Given the description of an element on the screen output the (x, y) to click on. 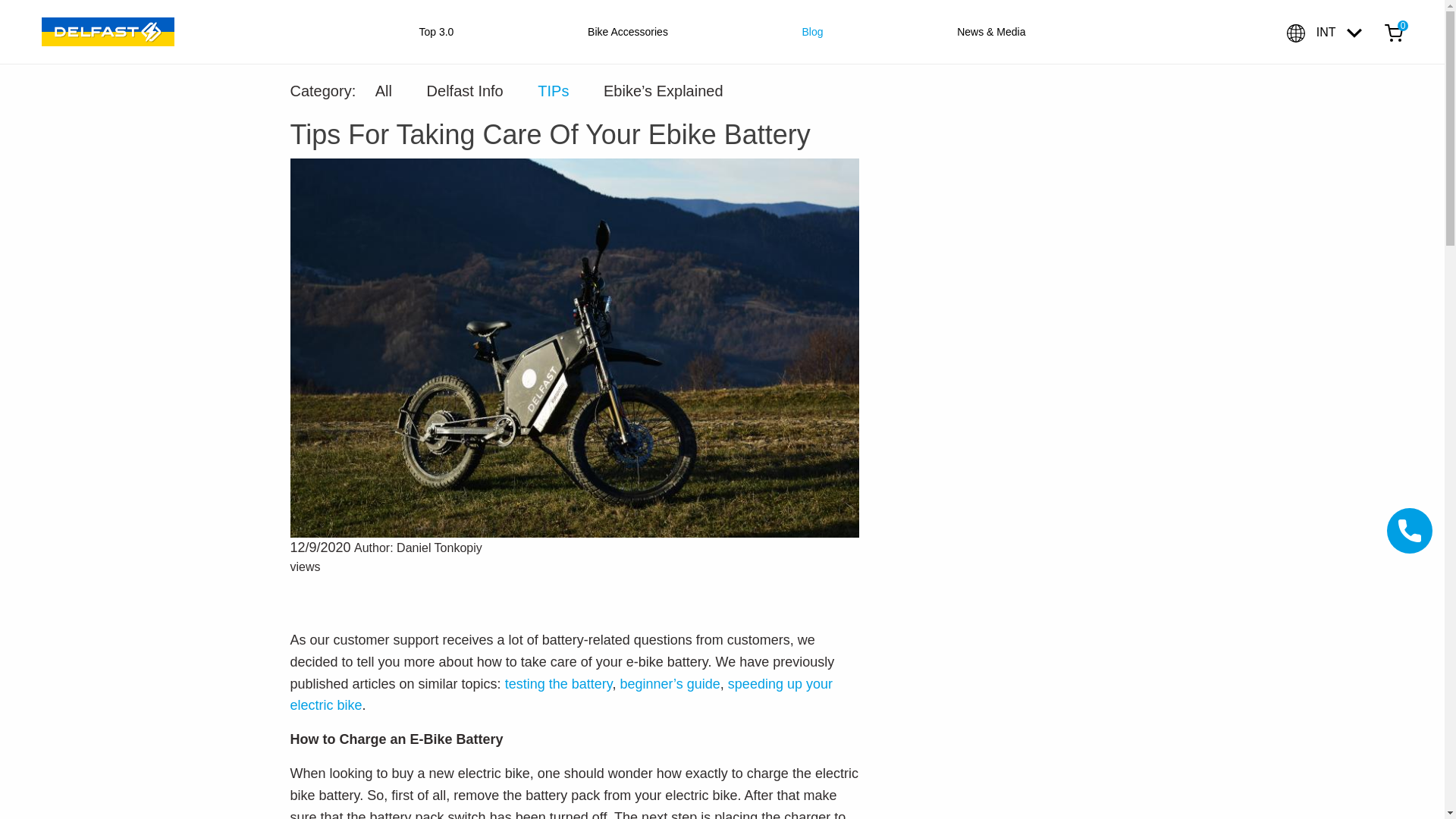
speeding up your electric bike (560, 694)
Top 3.0 (435, 31)
testing the battery (558, 683)
All (383, 90)
Delfast Info (465, 90)
Blog (813, 31)
Bike Accessories (628, 31)
TIPs (552, 90)
